Given the description of an element on the screen output the (x, y) to click on. 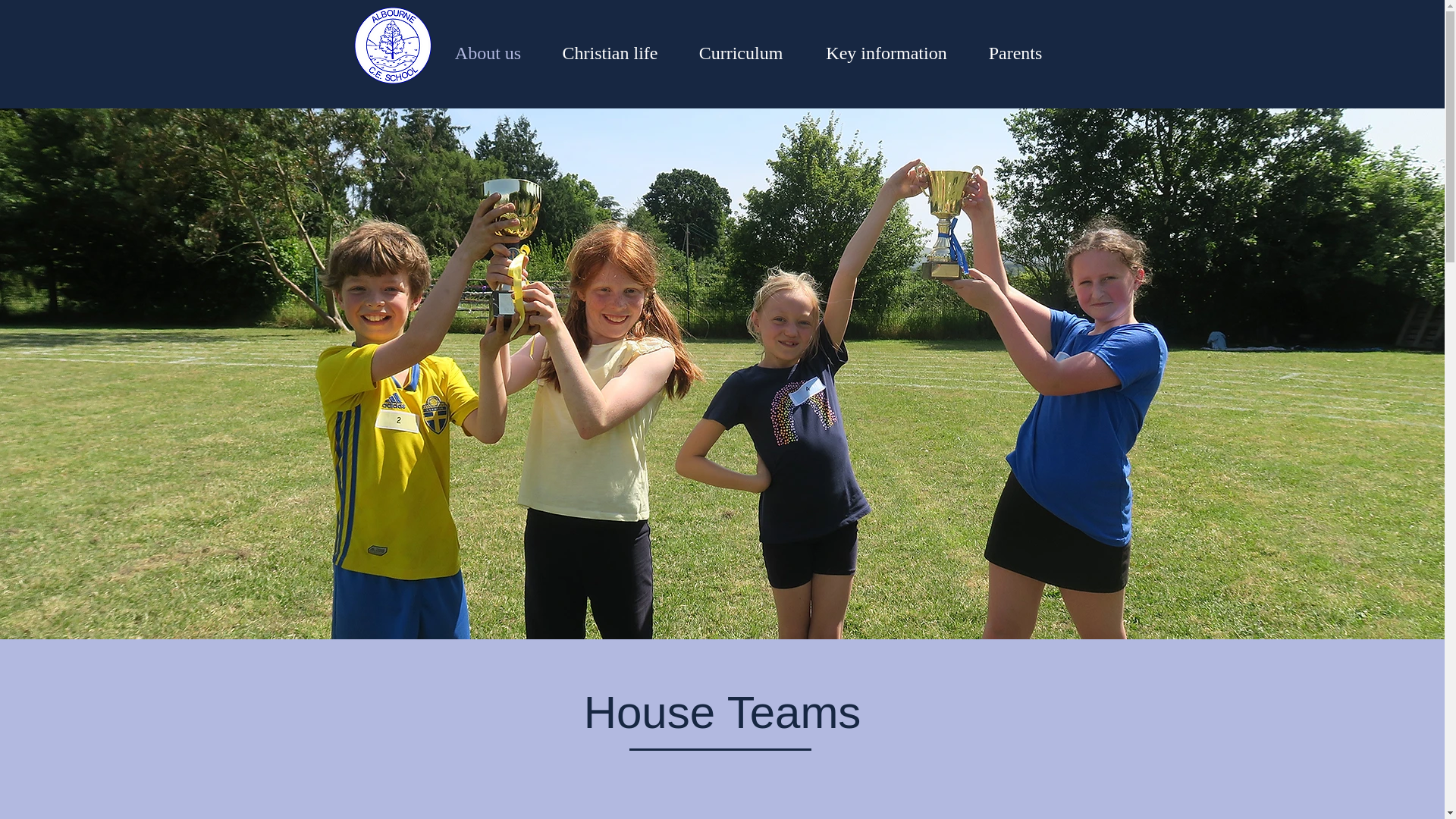
Parents (1015, 53)
Key information (886, 53)
About us (487, 53)
Christian life (609, 53)
Curriculum (740, 53)
